Given the description of an element on the screen output the (x, y) to click on. 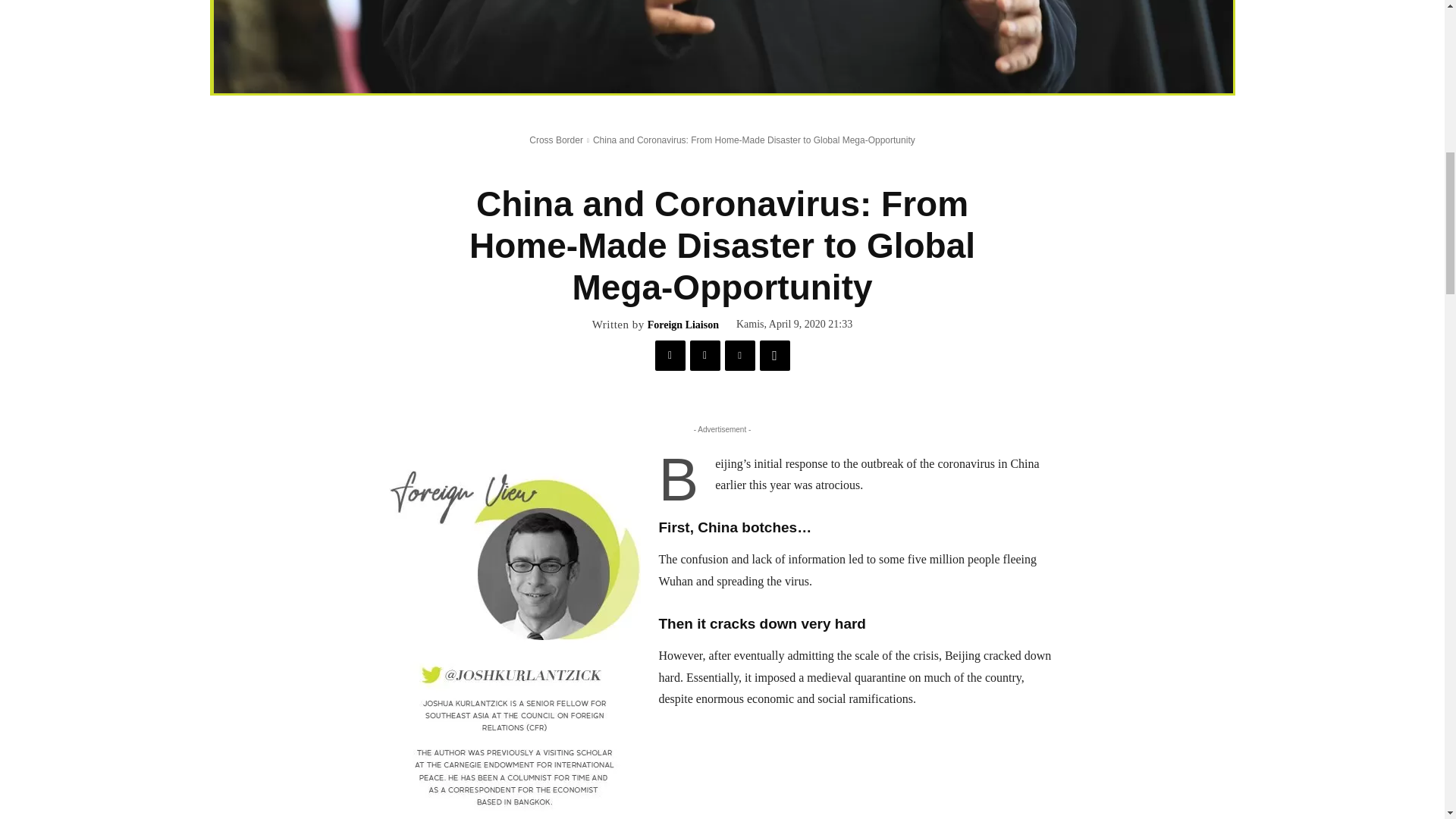
Facebook (670, 355)
Lihat semua kiriman dalam Cross Border (556, 140)
download (723, 46)
